Given the description of an element on the screen output the (x, y) to click on. 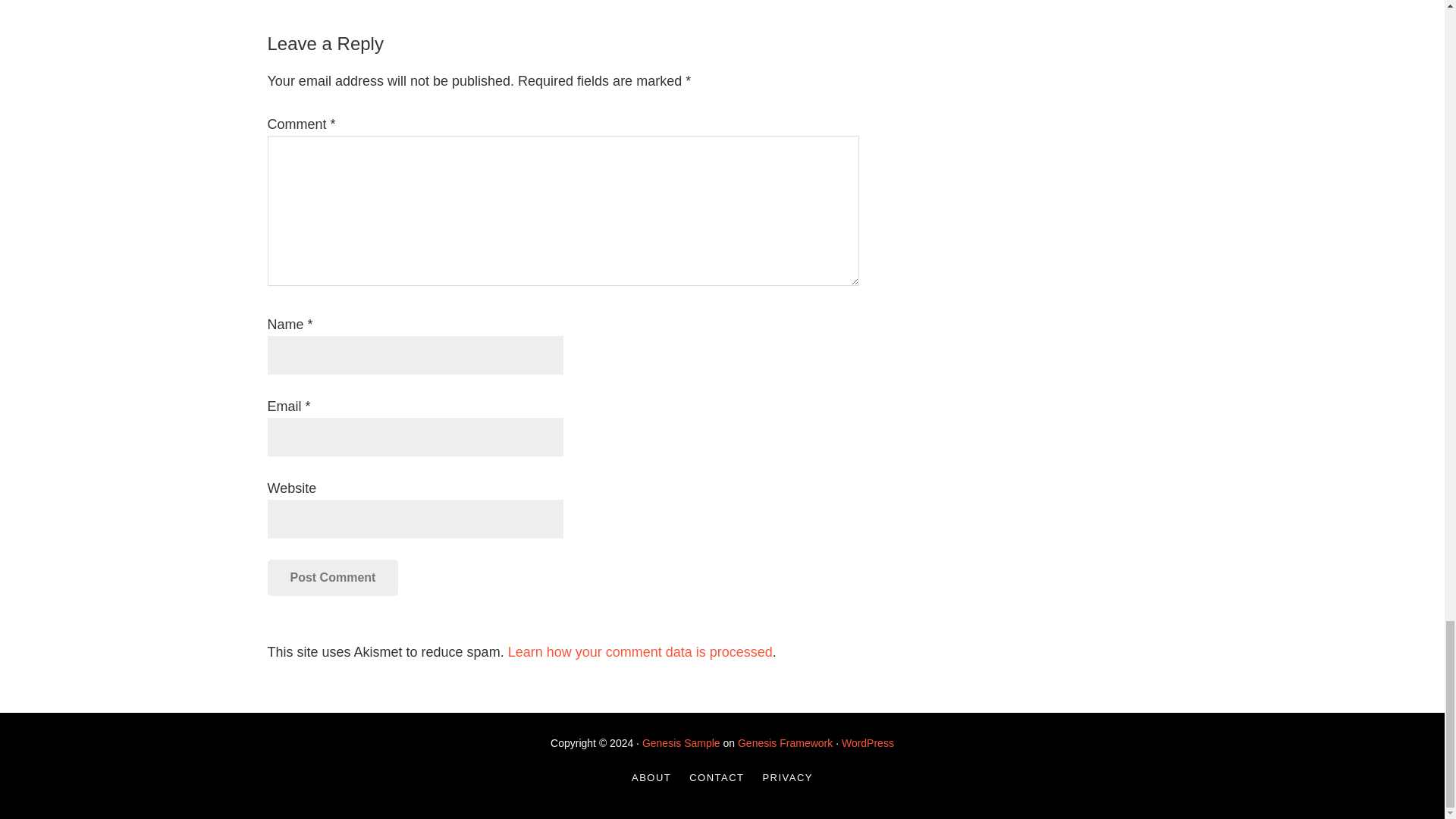
Post Comment (331, 577)
Learn how your comment data is processed (640, 652)
Post Comment (331, 577)
